Given the description of an element on the screen output the (x, y) to click on. 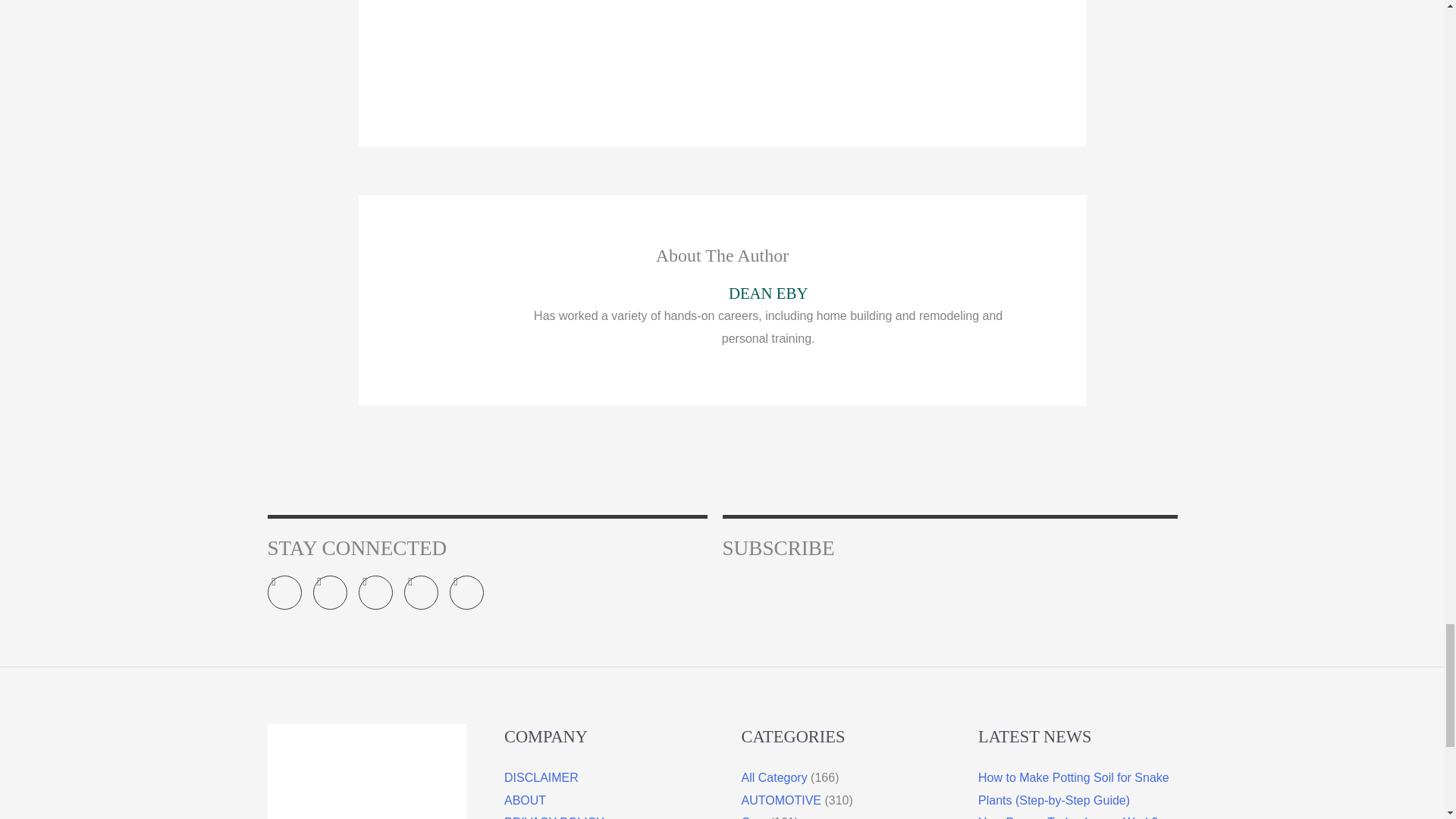
DEAN EBY (768, 292)
